Given the description of an element on the screen output the (x, y) to click on. 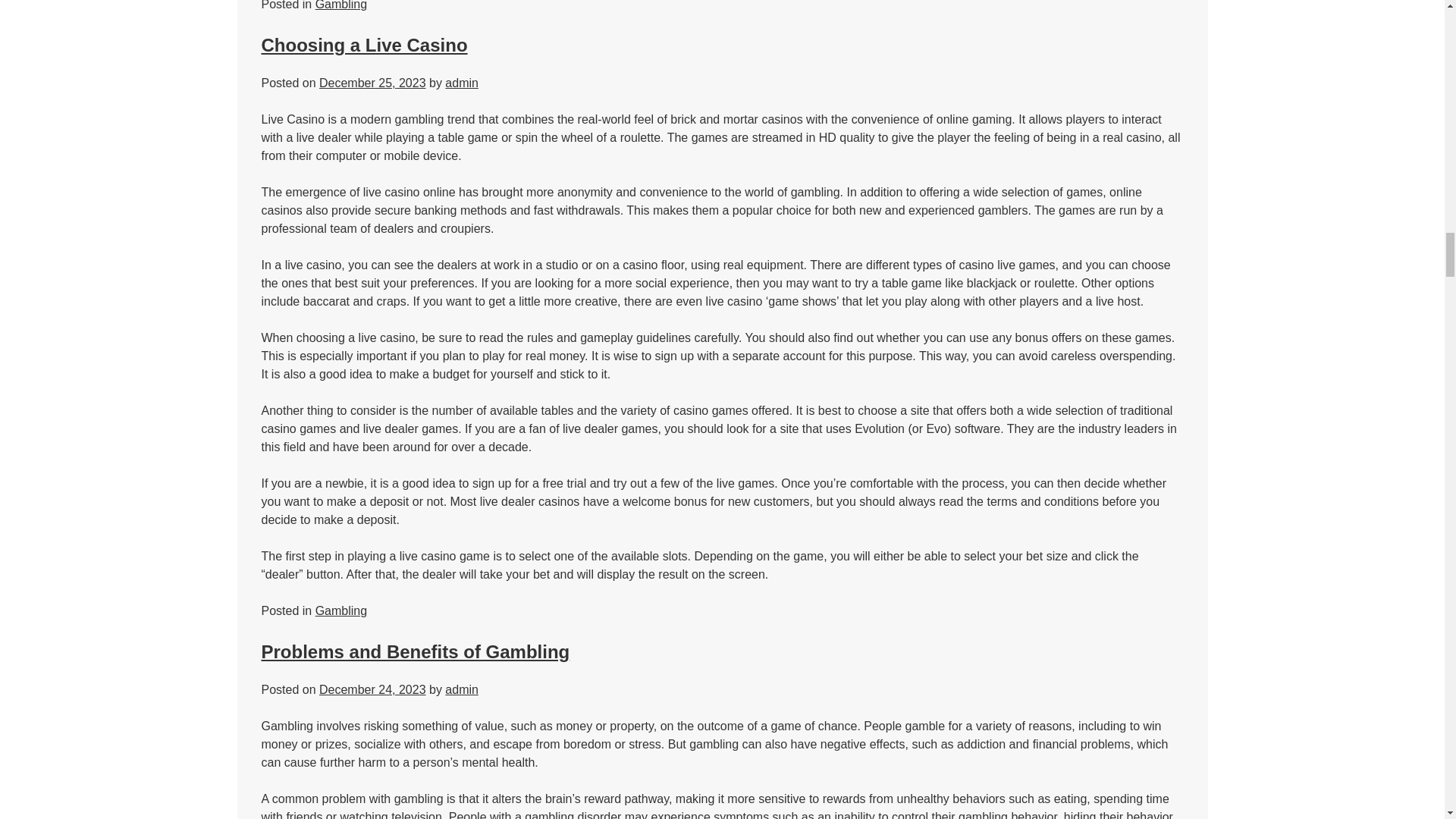
Choosing a Live Casino (363, 45)
Problems and Benefits of Gambling (414, 651)
admin (462, 82)
Gambling (340, 610)
Gambling (340, 5)
December 25, 2023 (372, 82)
